Given the description of an element on the screen output the (x, y) to click on. 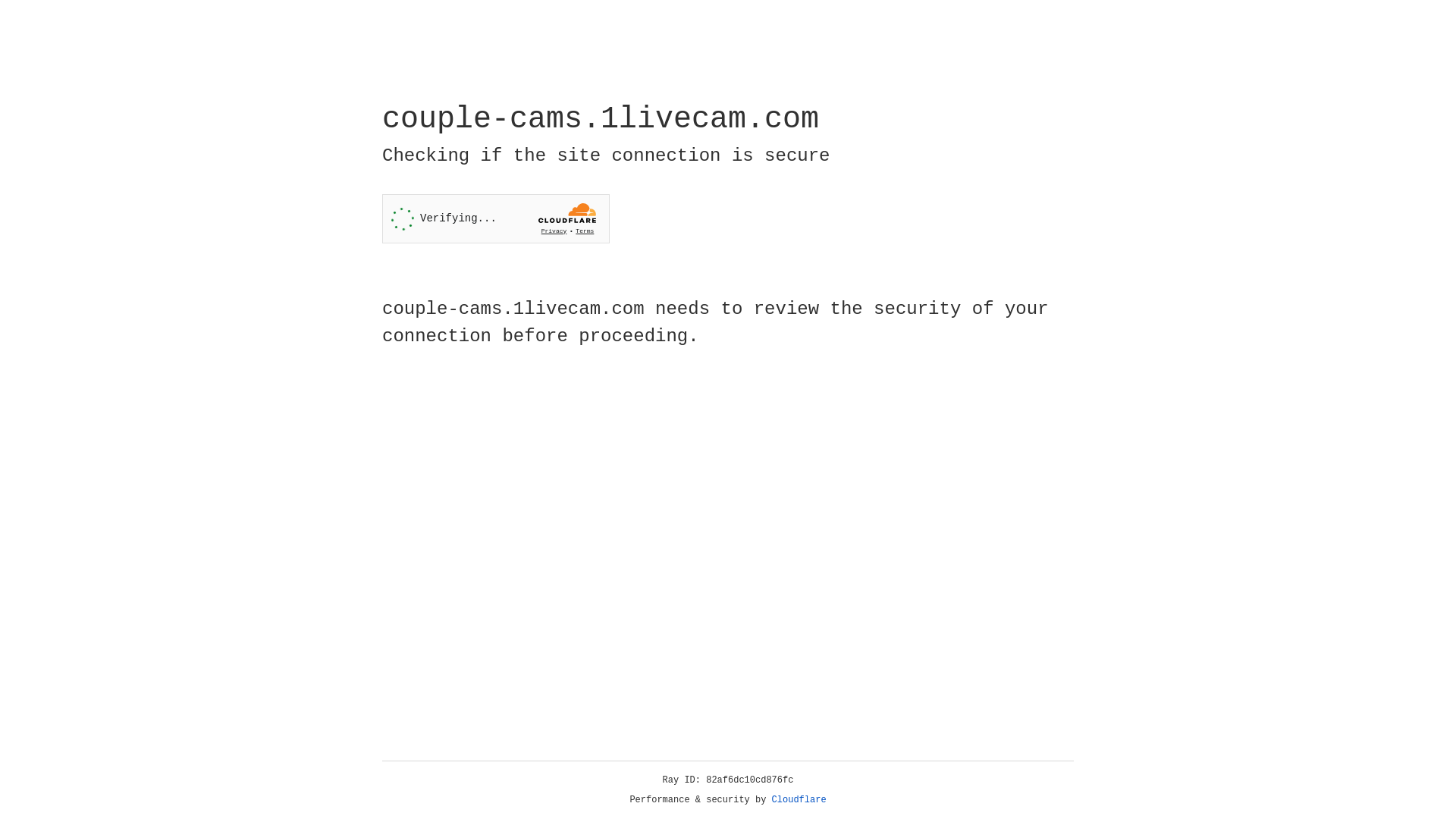
Cloudflare Element type: text (798, 799)
Widget containing a Cloudflare security challenge Element type: hover (495, 218)
